Given the description of an element on the screen output the (x, y) to click on. 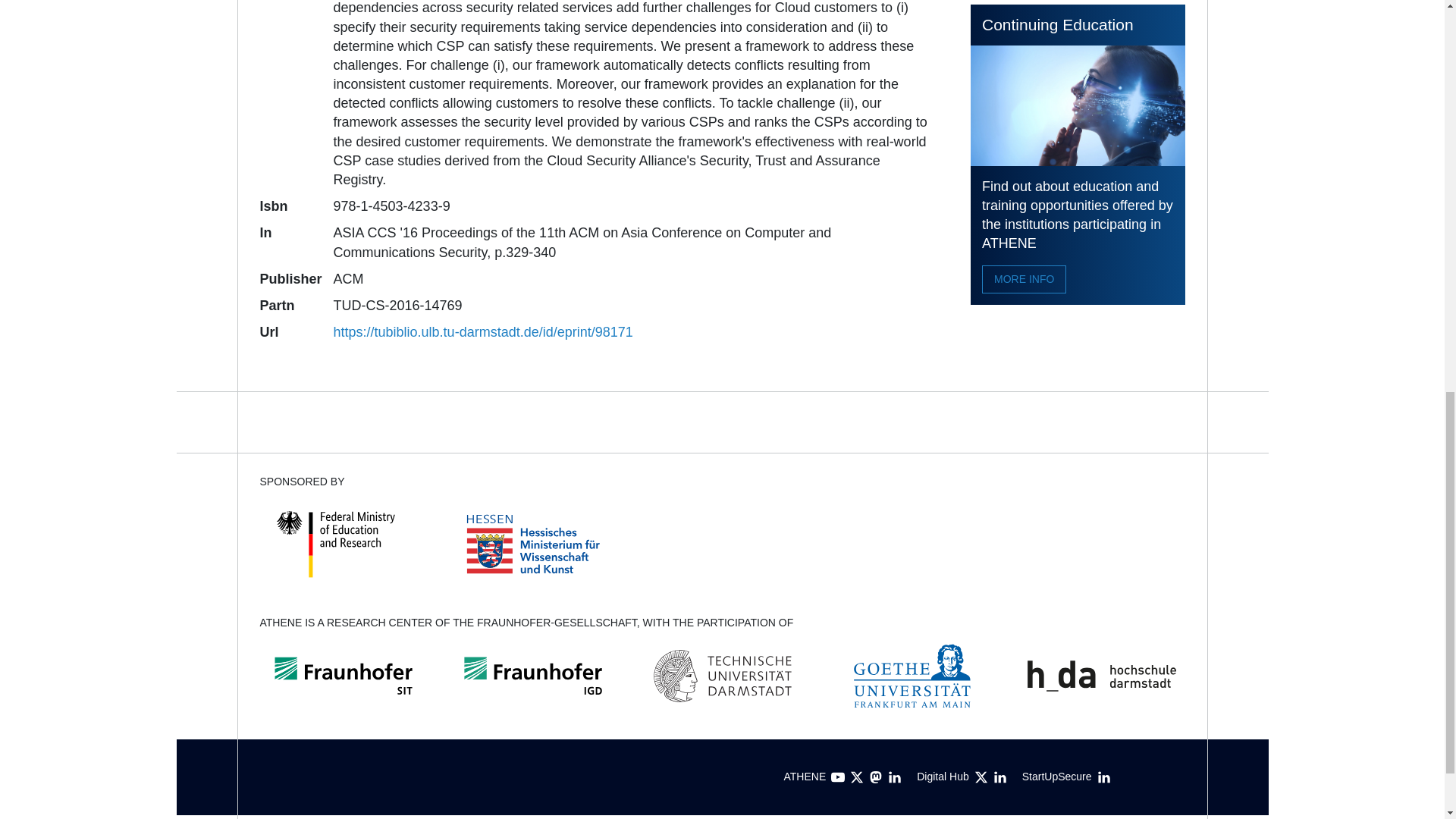
YouTube (837, 776)
LinkedIn (1103, 776)
LinkedIn (999, 776)
Twitter (856, 776)
LinkedIn (894, 776)
Mastodon (875, 776)
Twitter (981, 776)
